Given the description of an element on the screen output the (x, y) to click on. 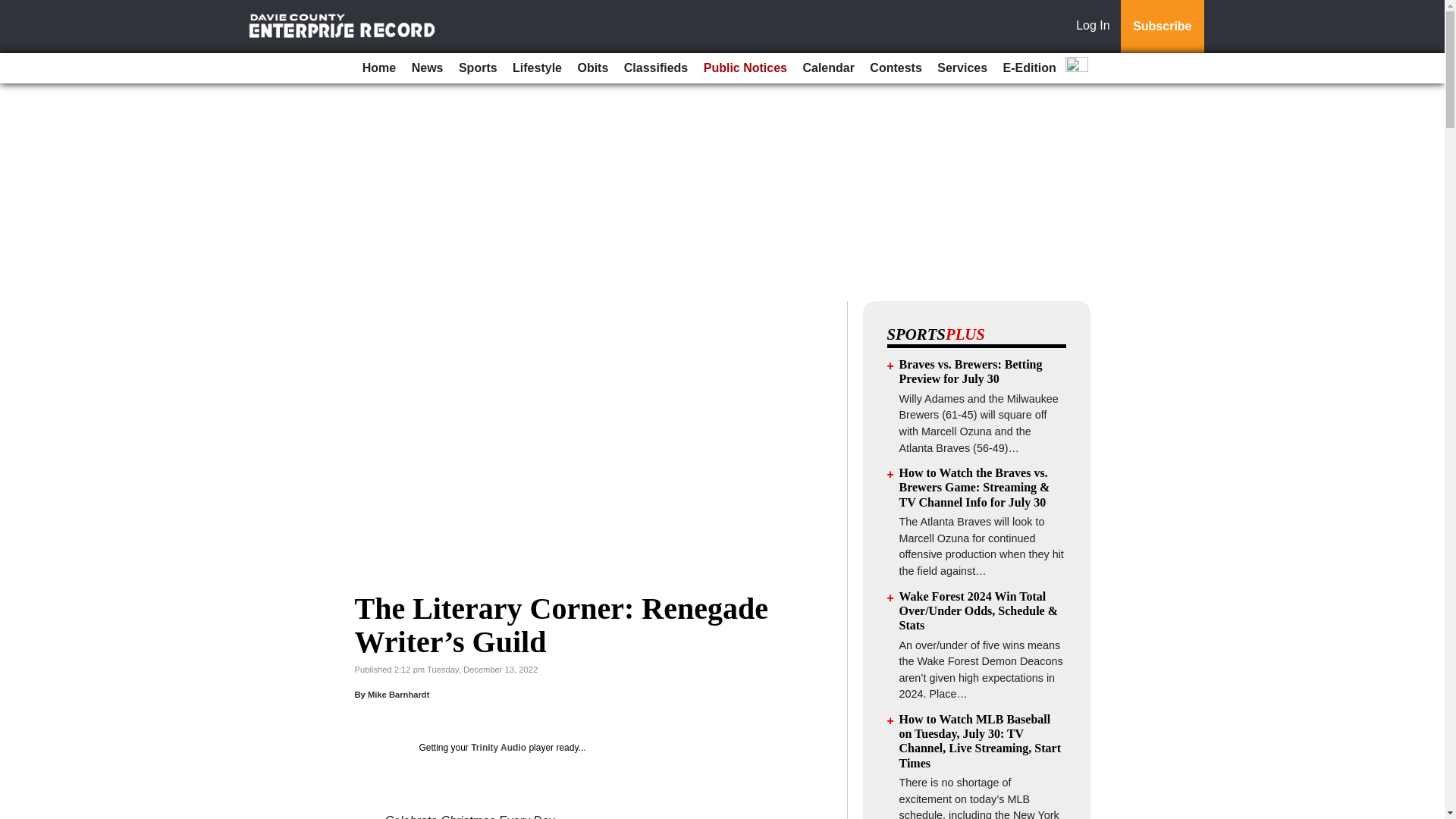
Public Notices (745, 68)
Contests (895, 68)
Sports (477, 68)
Subscribe (1162, 26)
Log In (1095, 26)
Home (378, 68)
Services (961, 68)
E-Edition (1029, 68)
News (427, 68)
Lifestyle (536, 68)
Classifieds (655, 68)
Braves vs. Brewers: Betting Preview for July 30 (970, 370)
Obits (592, 68)
Trinity Audio (497, 747)
